Given the description of an element on the screen output the (x, y) to click on. 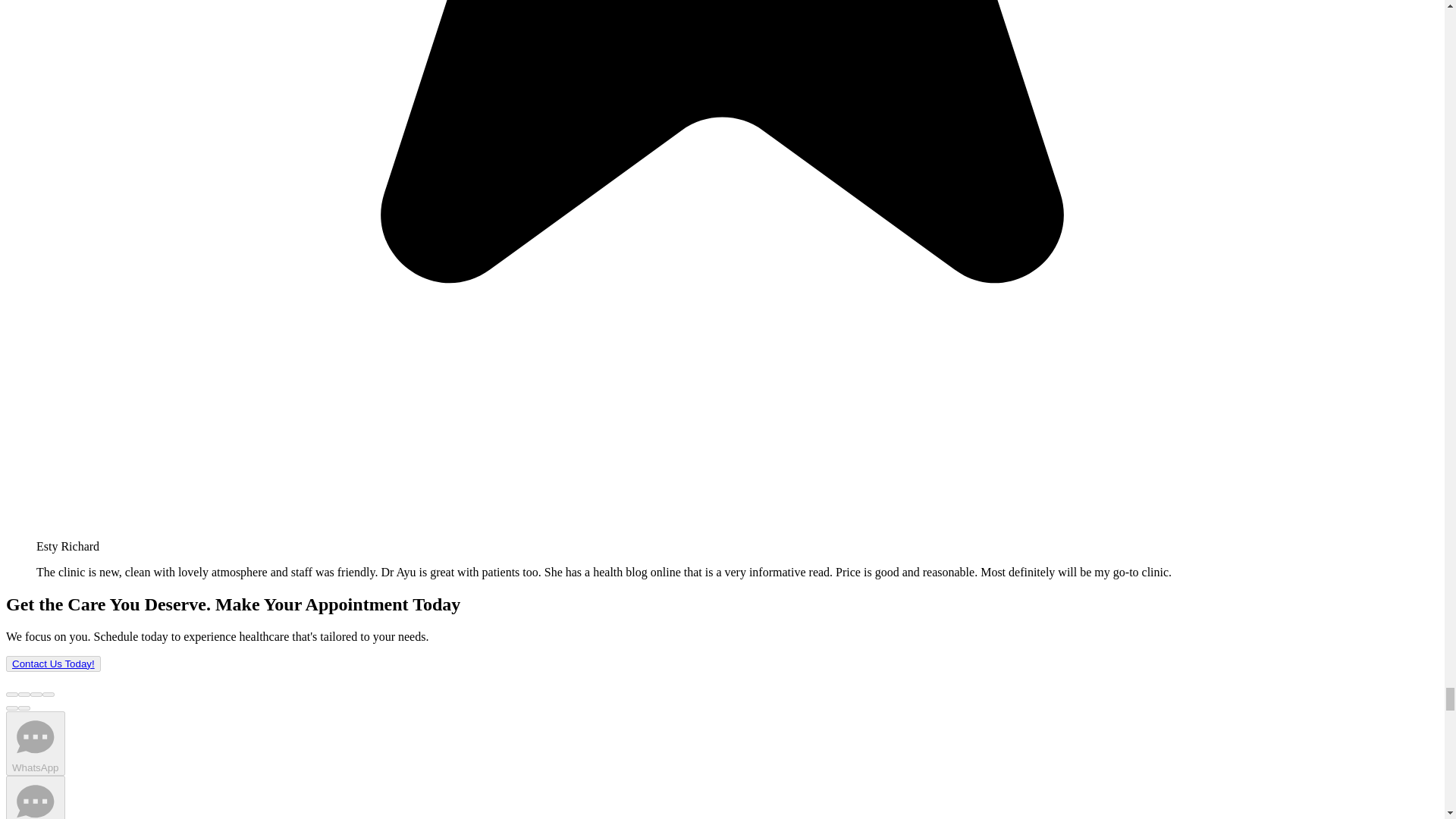
Contact Us Today! (52, 663)
Toggle fullscreen (36, 694)
Contact Us Today! (52, 663)
Share (23, 694)
